Given the description of an element on the screen output the (x, y) to click on. 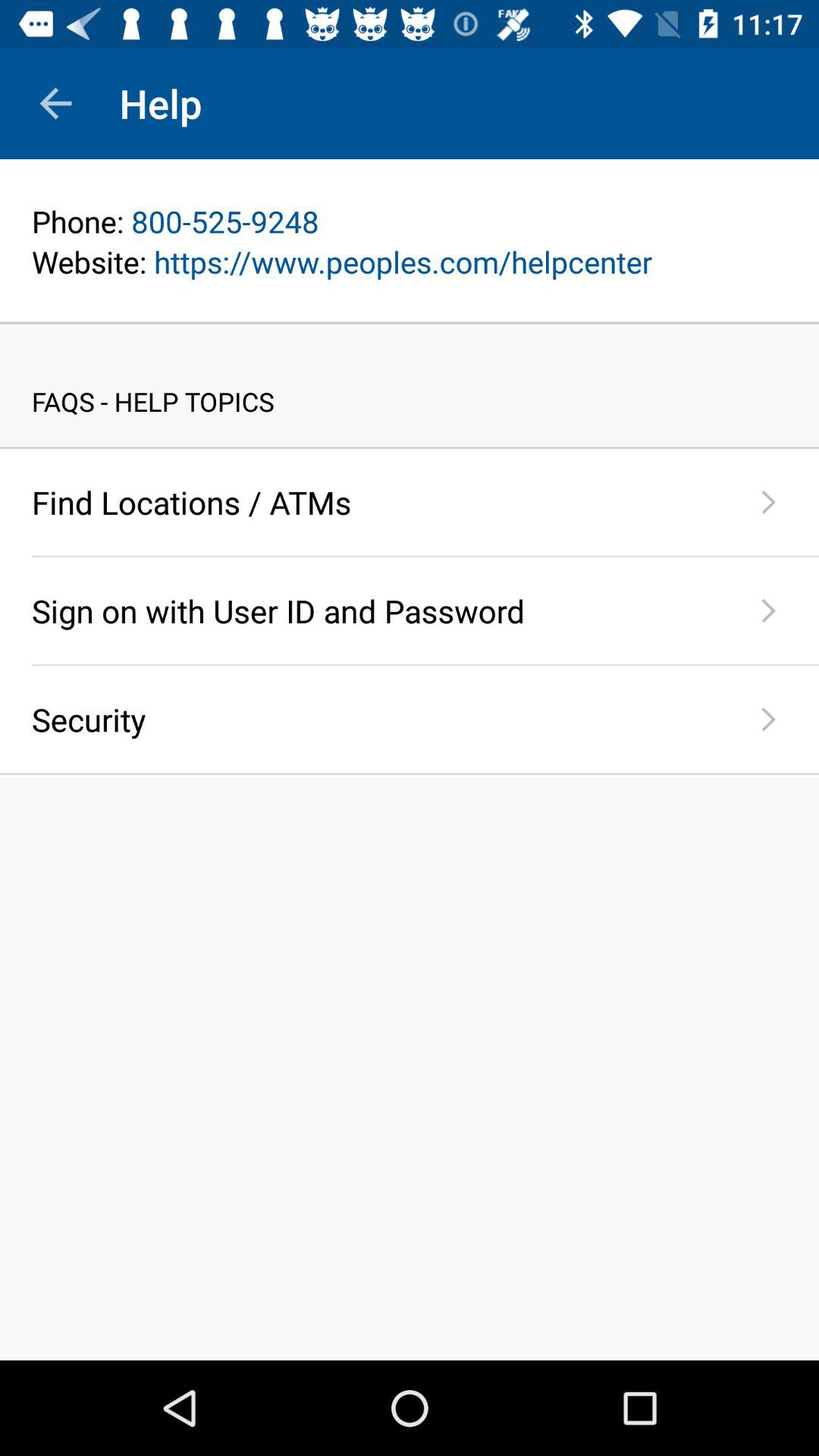
turn on the icon above phone 800 525 icon (409, 200)
